Given the description of an element on the screen output the (x, y) to click on. 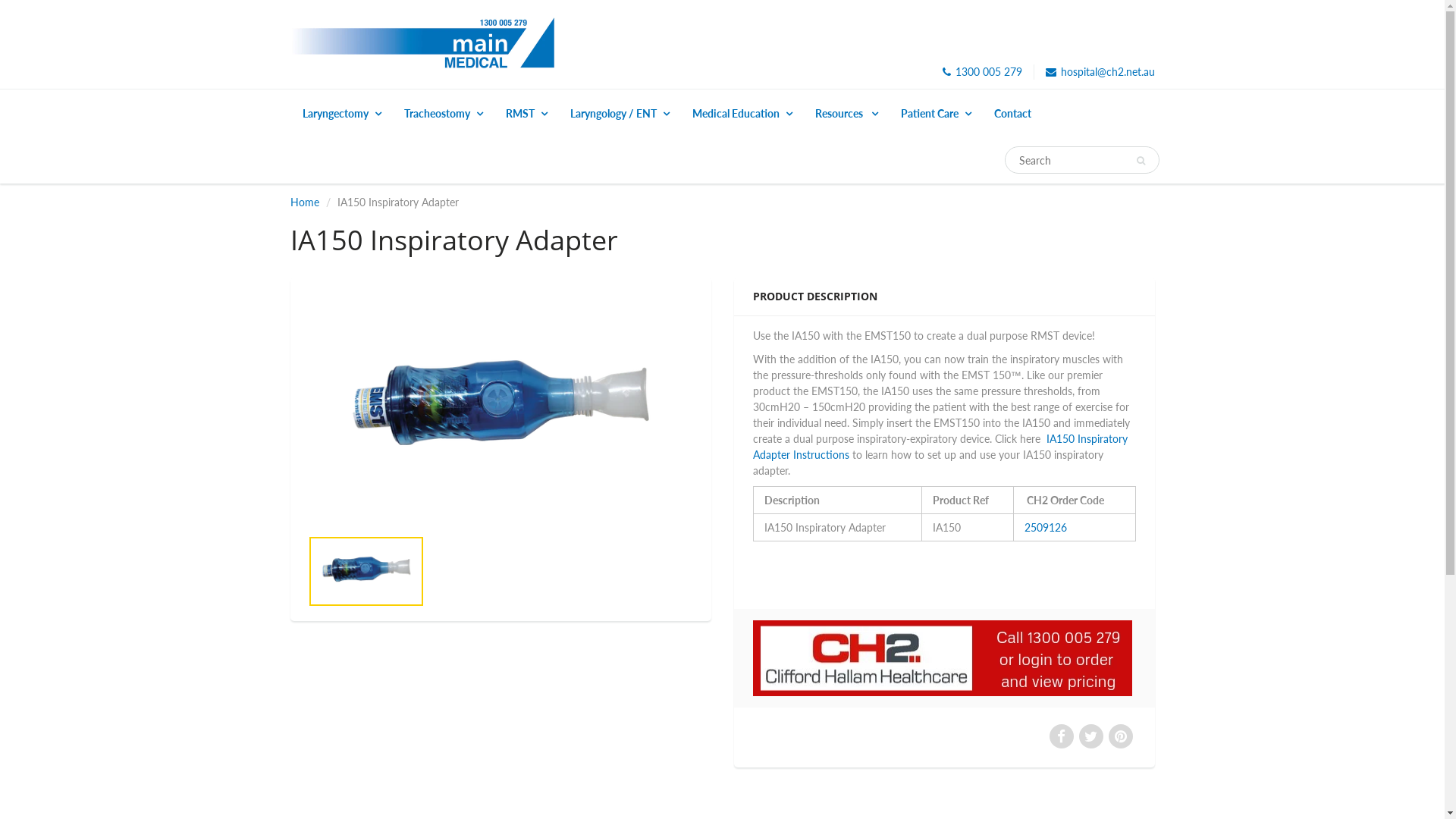
Laryngectomy Element type: text (341, 113)
1300 005 279 Element type: text (981, 71)
RMST Element type: text (526, 113)
IA150 Inspiratory Adapter Instructions Element type: text (939, 446)
Resources Element type: text (846, 113)
2509126 Element type: text (1045, 526)
Contact Element type: text (1012, 113)
IA150 Inspiratory Adapter Element type: hover (500, 409)
Tracheostomy Element type: text (443, 113)
Medical Education Element type: text (741, 113)
Home Element type: text (303, 201)
hospital@ch2.net.au Element type: text (1099, 71)
Laryngology / ENT Element type: text (619, 113)
Patient Care Element type: text (935, 113)
Search Element type: text (1140, 160)
